Given the description of an element on the screen output the (x, y) to click on. 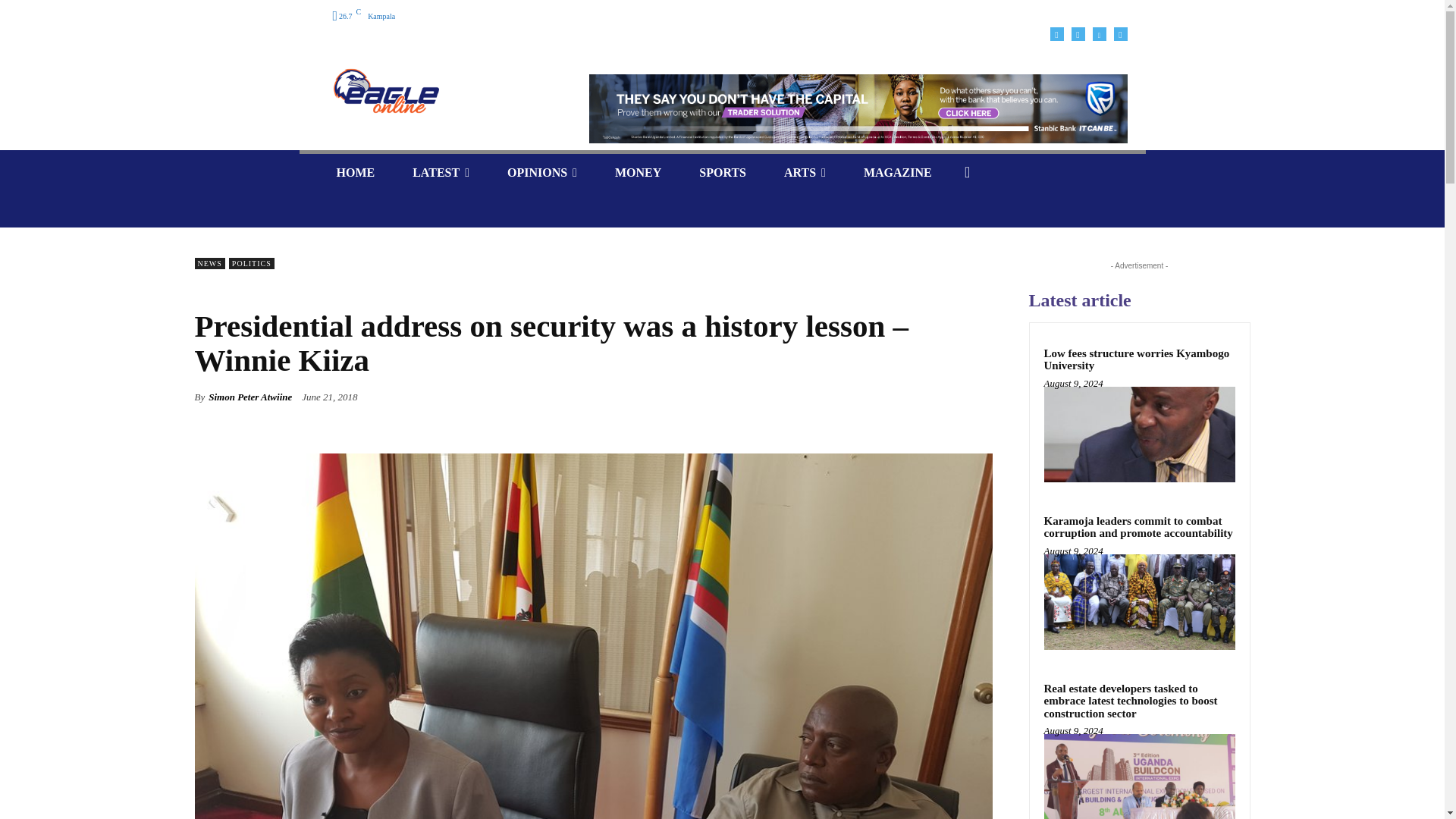
Eagle Online (440, 90)
Facebook (1055, 33)
HOME (355, 171)
Eagle Online (385, 90)
Twitter (1119, 33)
SPORTS (722, 171)
MONEY (637, 171)
Linkedin (1098, 33)
Instagram (1077, 33)
OPINIONS (541, 171)
